Given the description of an element on the screen output the (x, y) to click on. 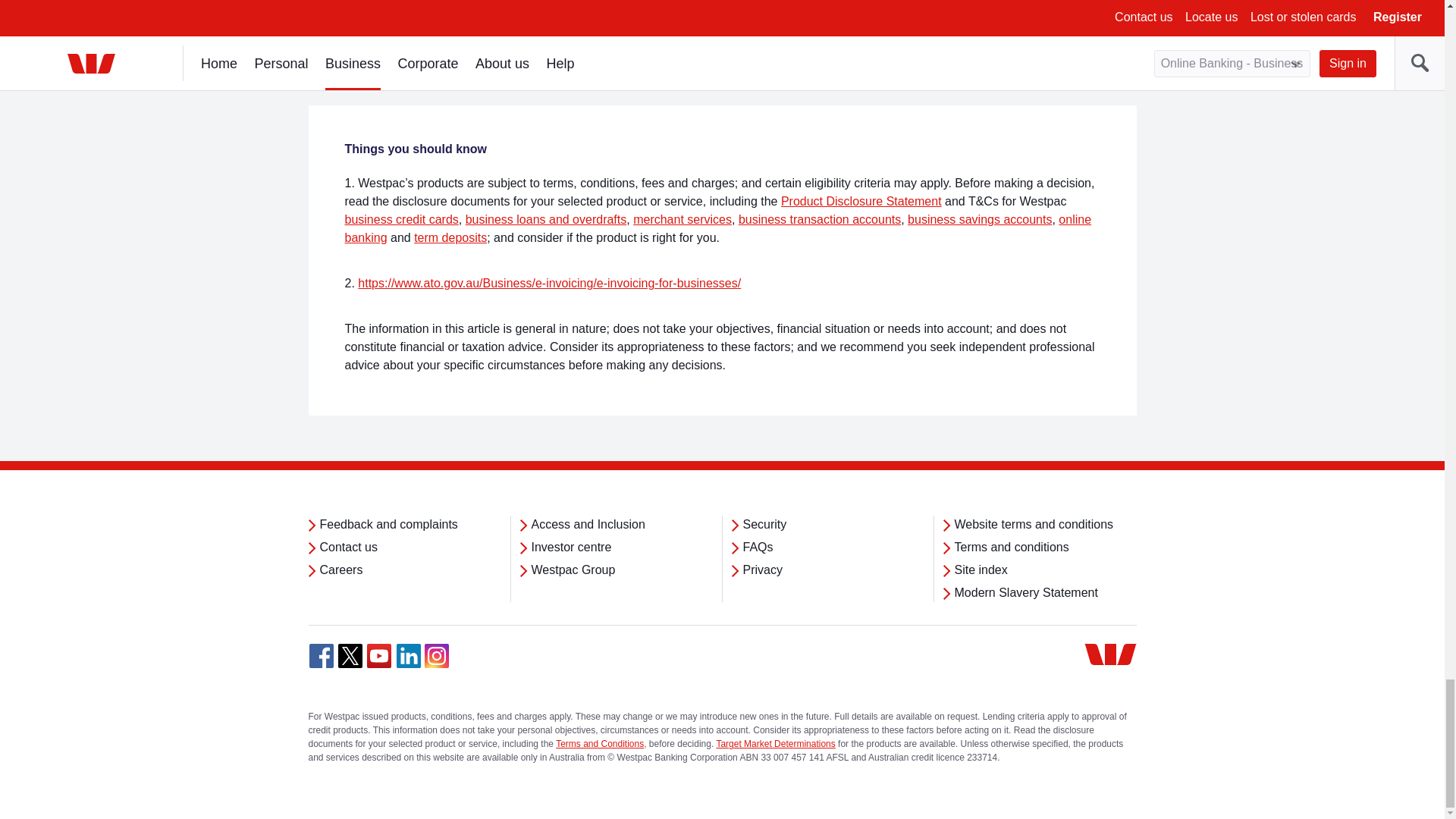
LinkedIn (408, 655)
Facebook (320, 655)
Youtube (378, 655)
Twitter (349, 655)
Instagram (436, 655)
